Given the description of an element on the screen output the (x, y) to click on. 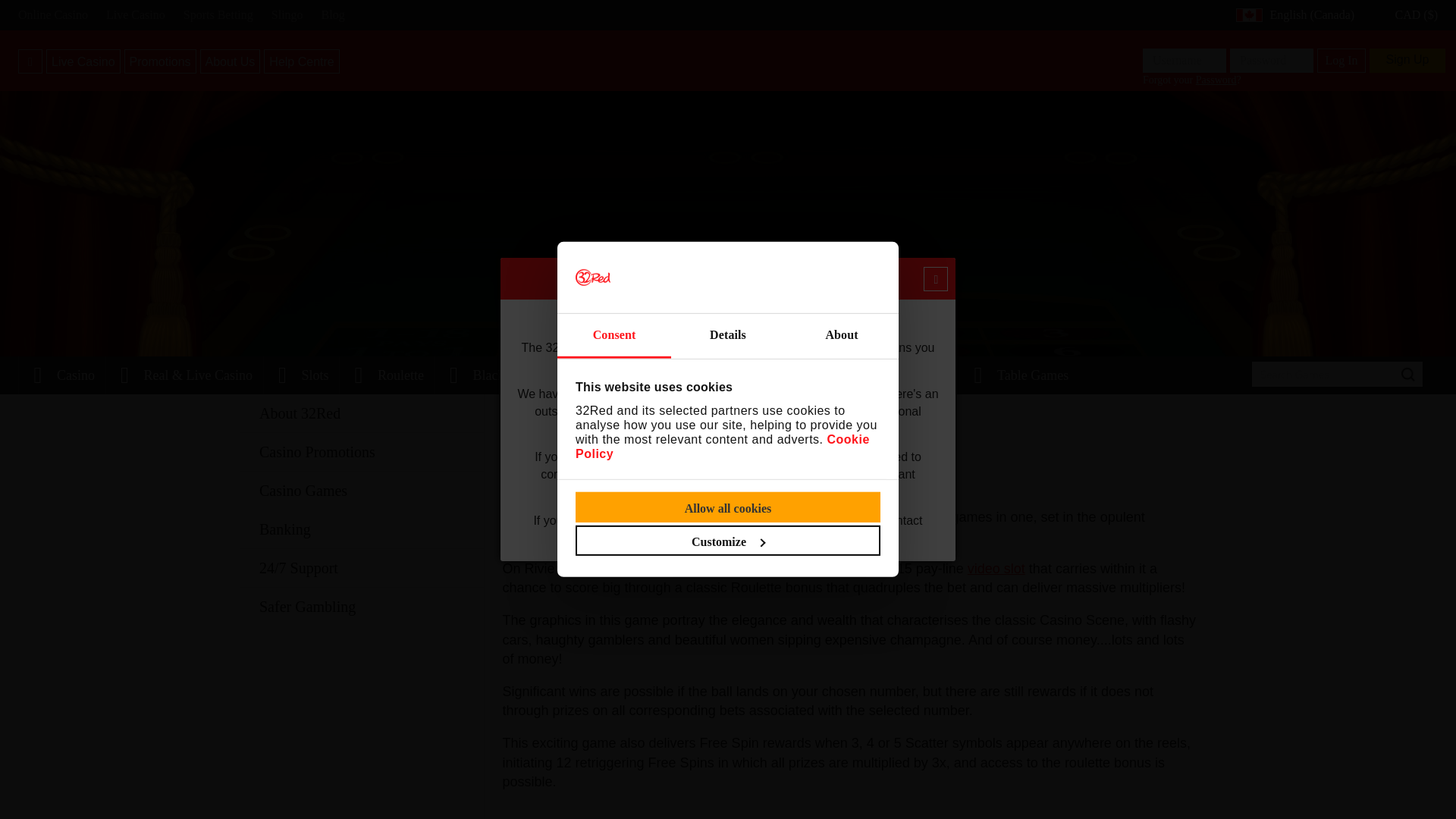
Consent (614, 335)
Cookie Policy (722, 446)
Details (727, 335)
About (841, 335)
